Given the description of an element on the screen output the (x, y) to click on. 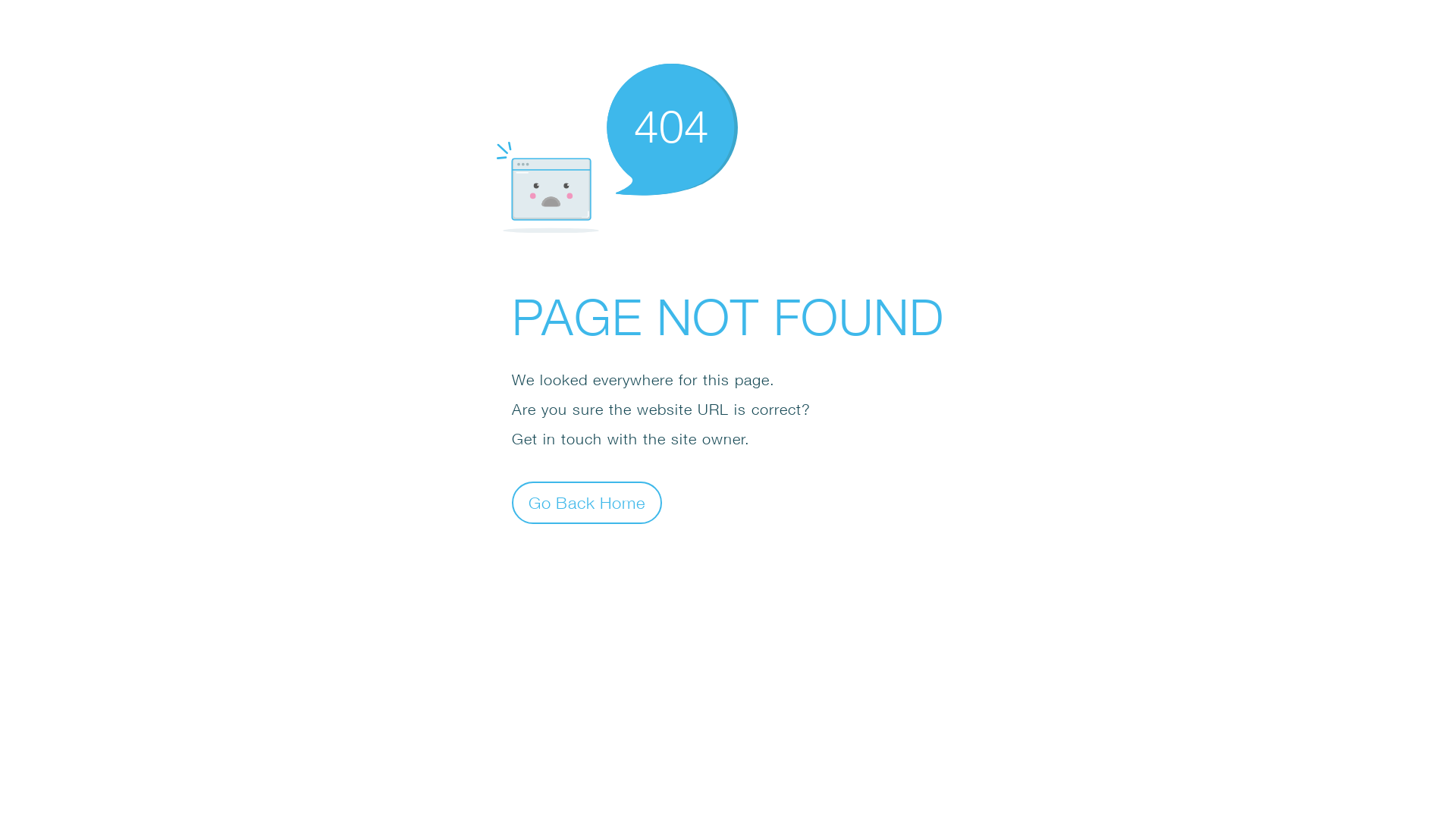
Go Back Home Element type: text (586, 502)
